Given the description of an element on the screen output the (x, y) to click on. 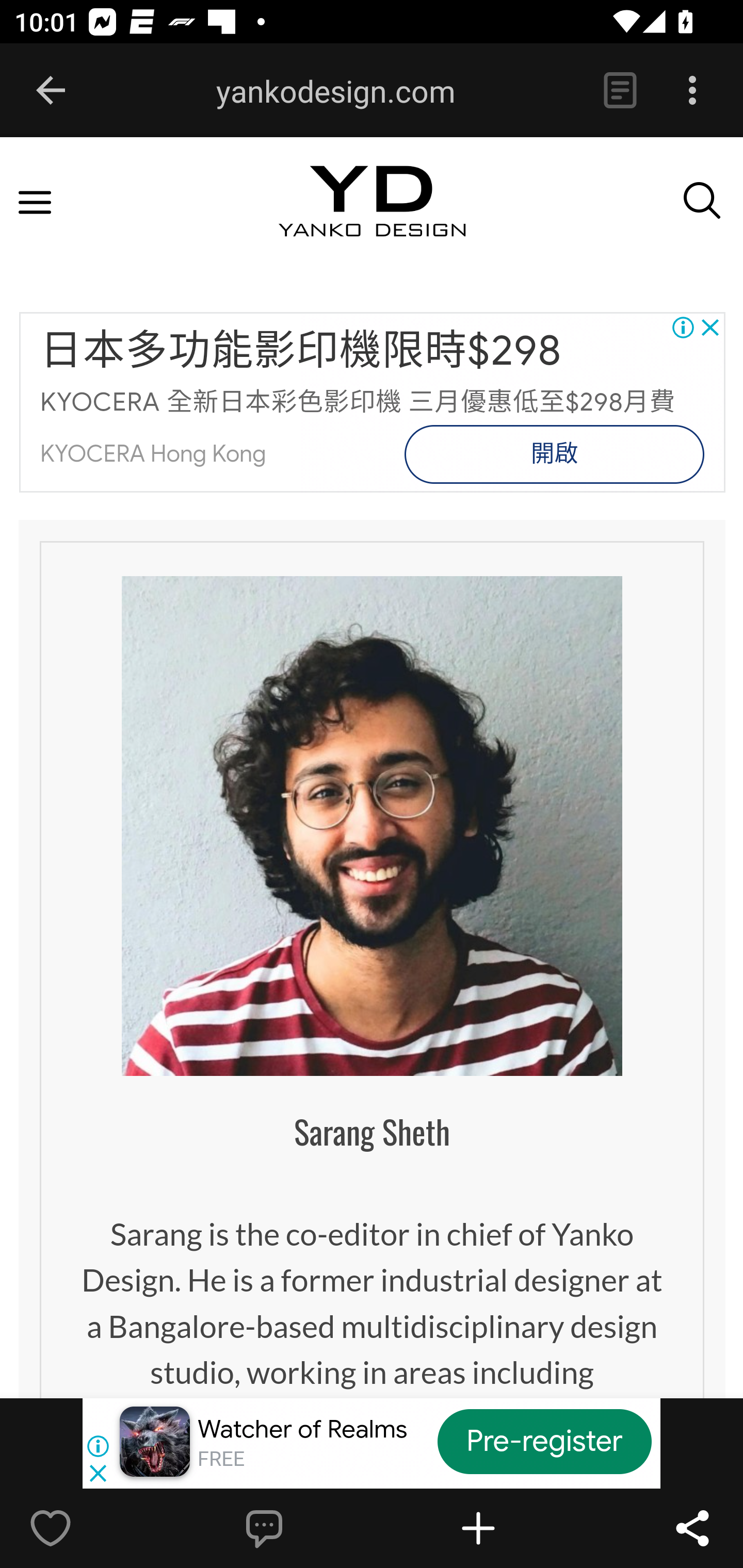
Back (50, 90)
Reader View (619, 90)
Options (692, 90)
Yanko Design - Modern Industrial Design News (371, 218)
日本多功能影印機限時$298 (301, 351)
KYOCERA 全新日本彩色影印機 三月優惠低至$298月費 (357, 401)
開啟 (553, 454)
KYOCERA Hong Kong (153, 453)
Pre-register (544, 1441)
Watcher of Realms (302, 1428)
FREE (221, 1458)
Like (93, 1528)
Write a comment… (307, 1528)
Flip into Magazine (521, 1528)
Share (692, 1528)
